Given the description of an element on the screen output the (x, y) to click on. 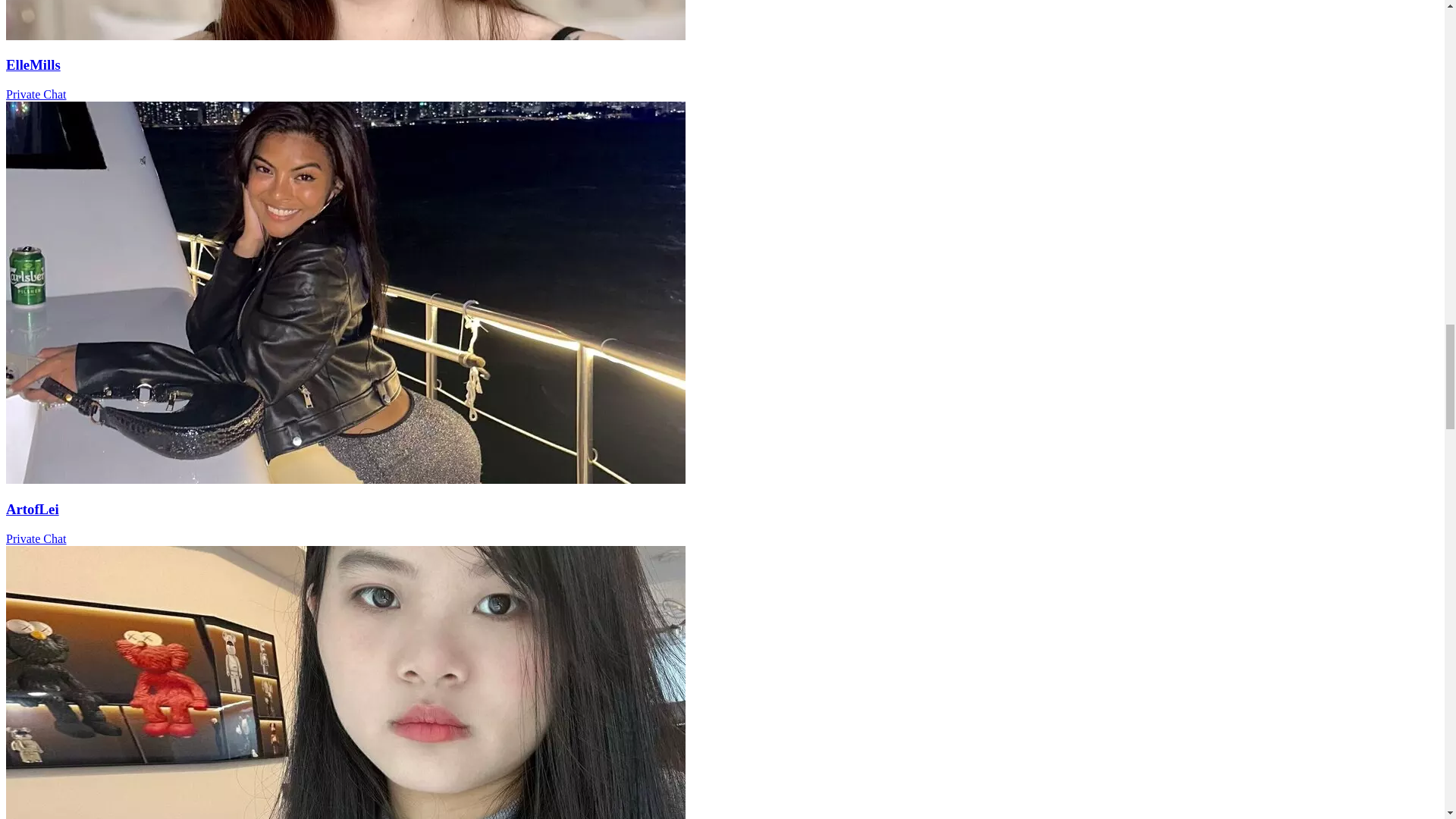
View more of ElleMills (345, 35)
View more of ArtofLei (345, 479)
